Given the description of an element on the screen output the (x, y) to click on. 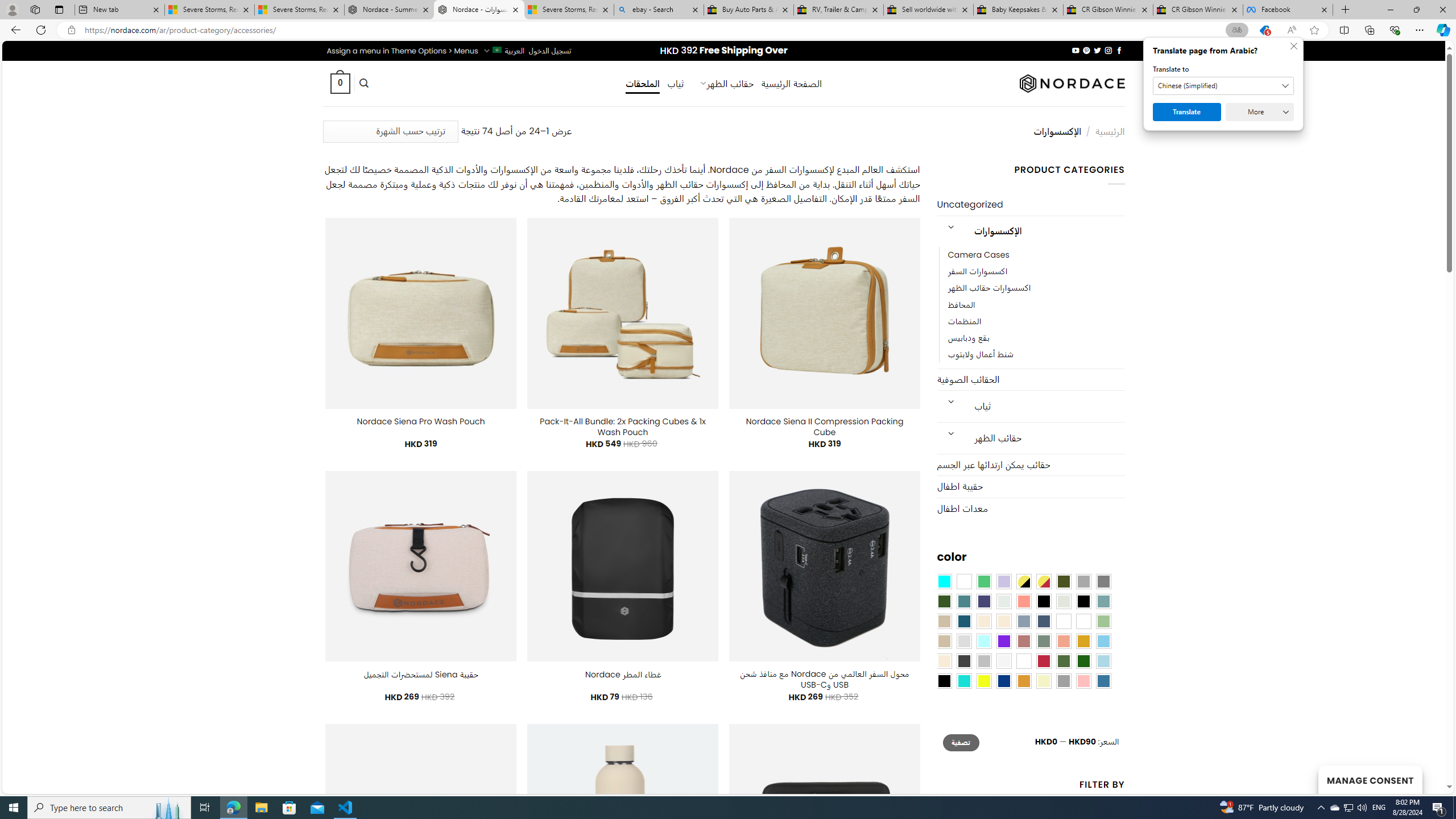
Hale Navy (1043, 621)
Yellow-Black (1023, 581)
Blue Sage (1103, 601)
Translate to (1223, 85)
